Given the description of an element on the screen output the (x, y) to click on. 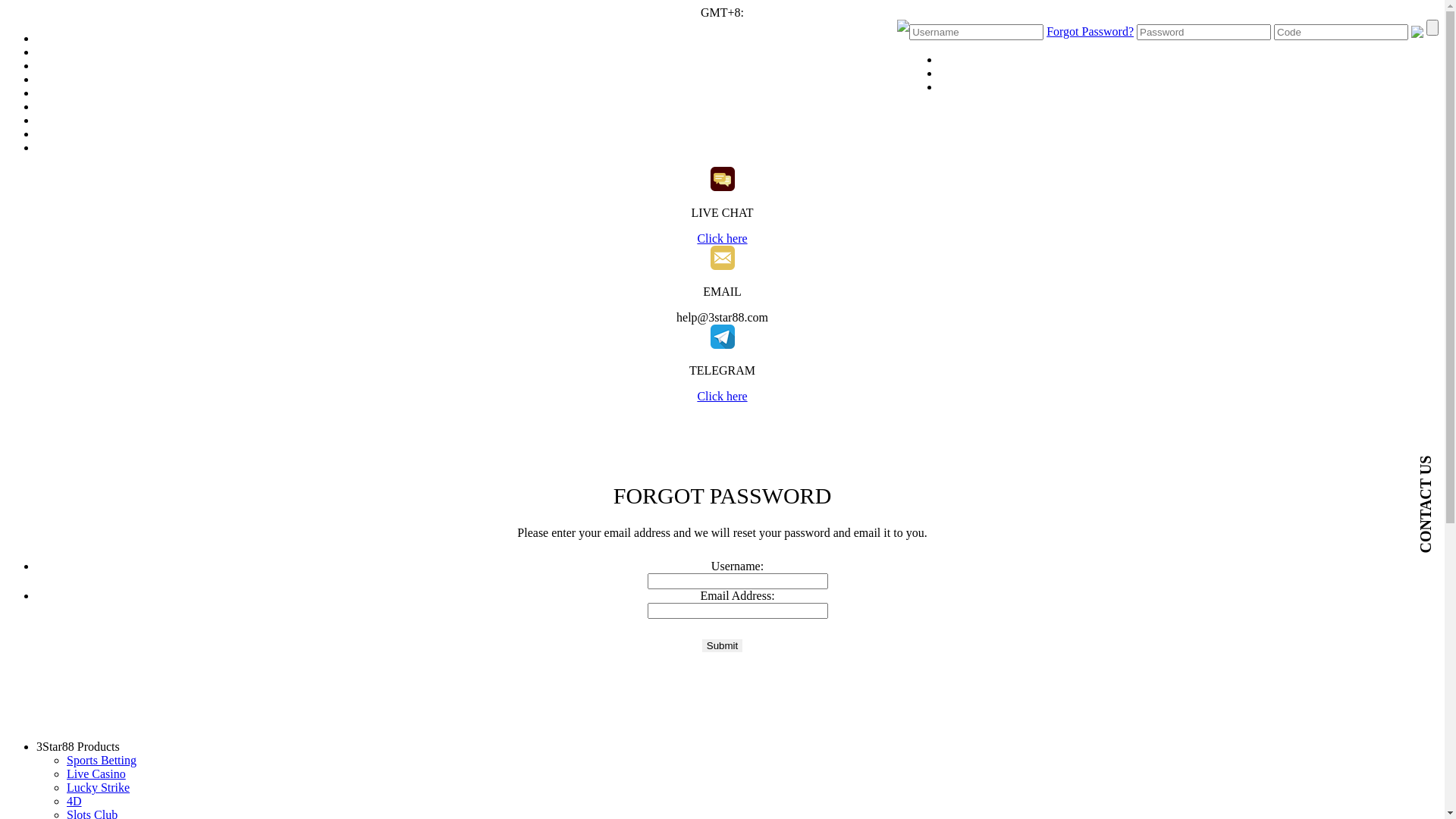
Submit Element type: text (722, 645)
Lucky Strike Element type: text (97, 787)
Sports Betting Element type: text (101, 759)
Forgot Password? Element type: text (1089, 31)
help@3star88.com Element type: text (722, 316)
Live Casino Element type: text (95, 773)
4D Element type: text (73, 800)
Click here Element type: text (721, 238)
Click here Element type: text (721, 395)
